Given the description of an element on the screen output the (x, y) to click on. 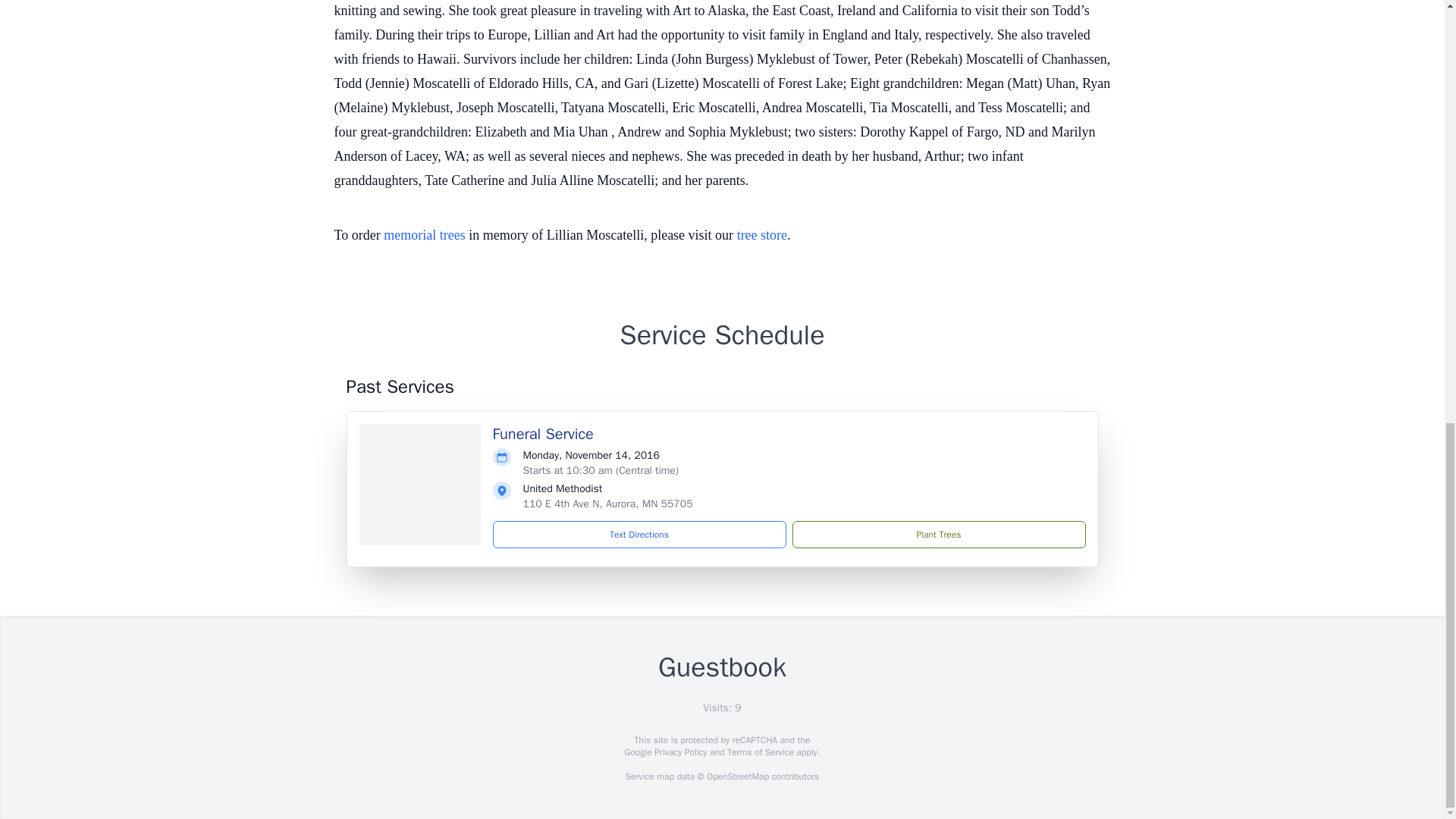
Privacy Policy (679, 752)
110 E 4th Ave N, Aurora, MN 55705 (607, 503)
Text Directions (639, 533)
Plant Trees (938, 533)
Terms of Service (759, 752)
OpenStreetMap (737, 776)
memorial trees (424, 234)
tree store (761, 234)
